Given the description of an element on the screen output the (x, y) to click on. 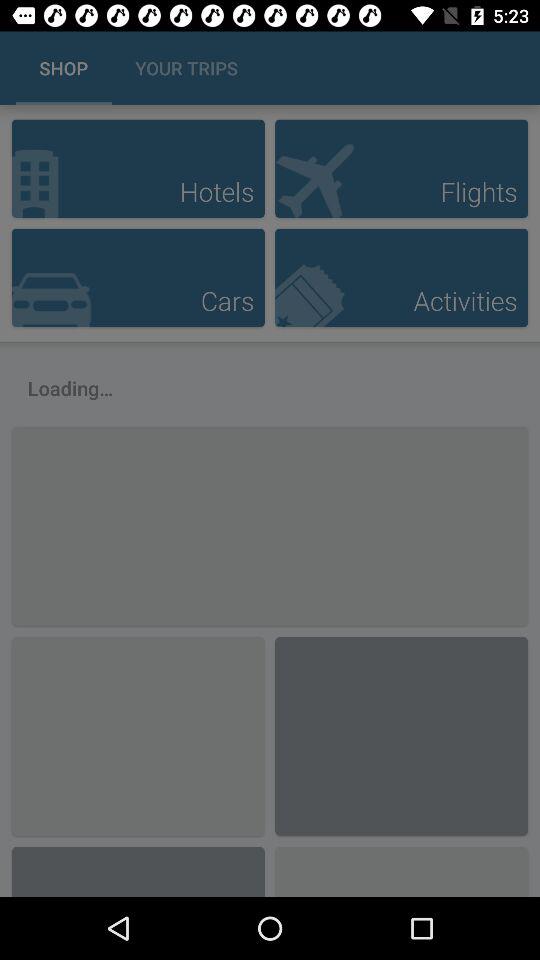
search for flights (401, 168)
